Given the description of an element on the screen output the (x, y) to click on. 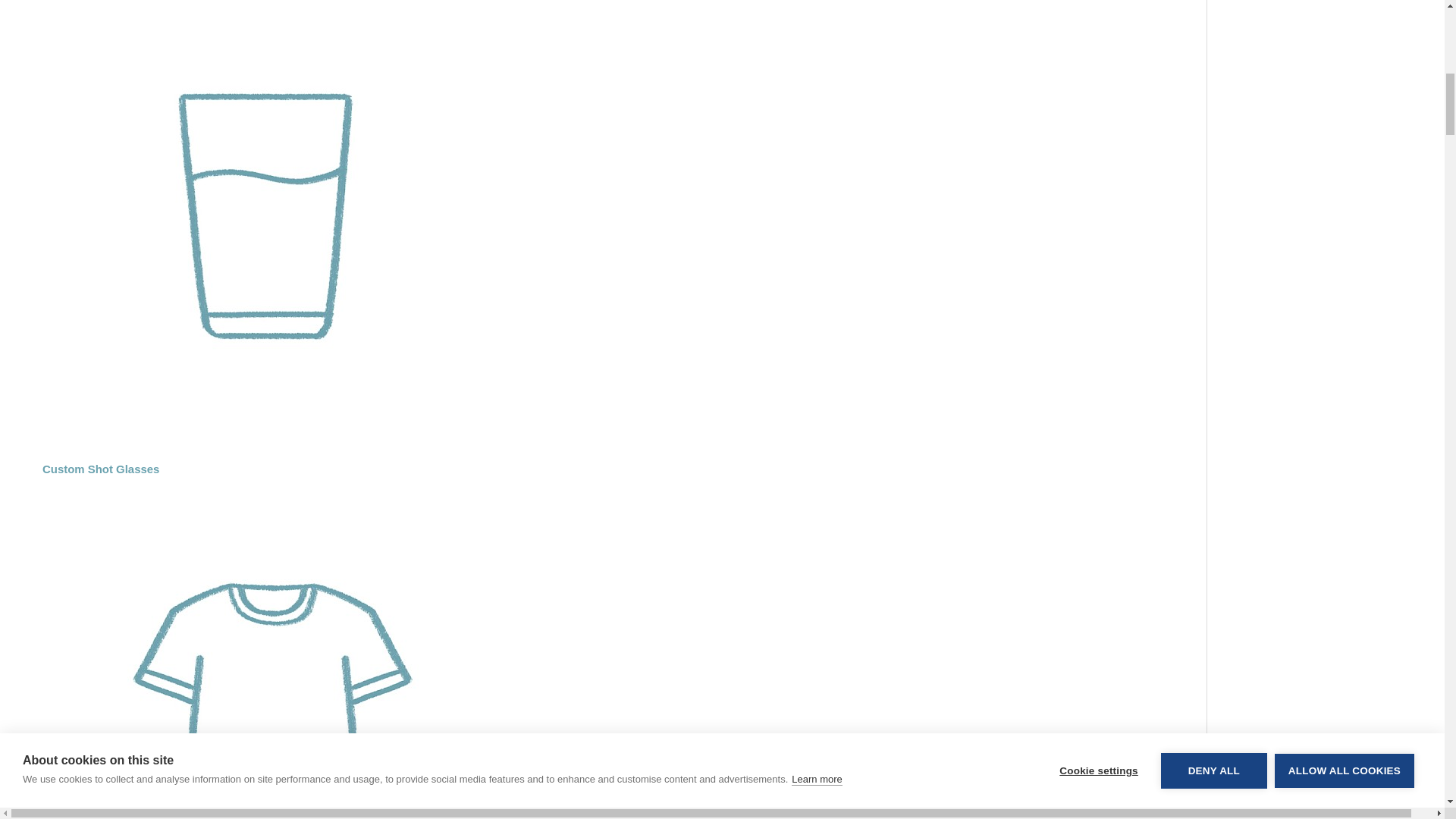
Cookie settings (1098, 13)
Learn more (816, 31)
DENY ALL (1213, 4)
